Given the description of an element on the screen output the (x, y) to click on. 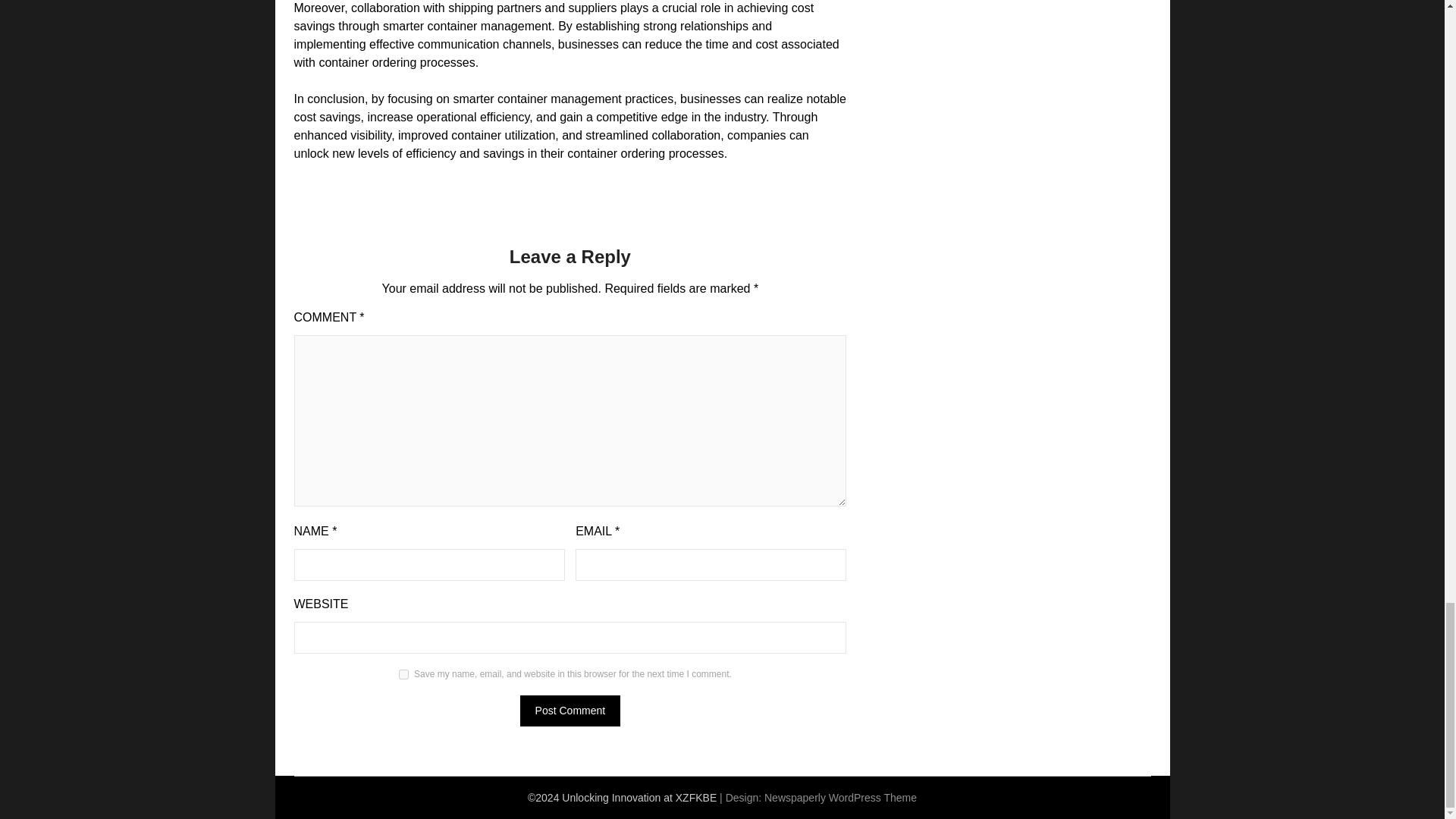
Post Comment (570, 710)
Post Comment (570, 710)
yes (403, 674)
